Given the description of an element on the screen output the (x, y) to click on. 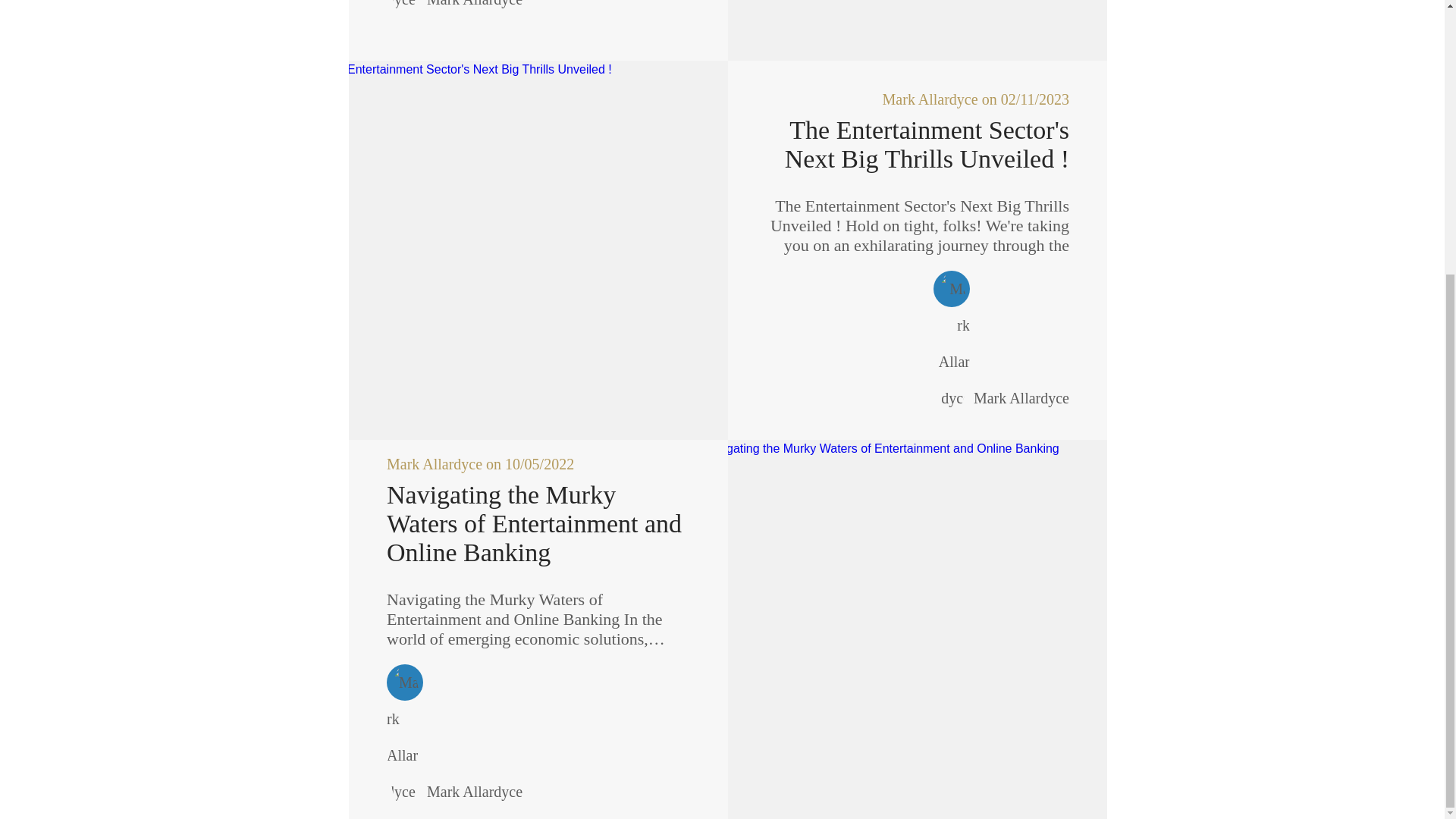
The Entertainment Sector's Next Big Thrills Unveiled ! (916, 144)
